Given the description of an element on the screen output the (x, y) to click on. 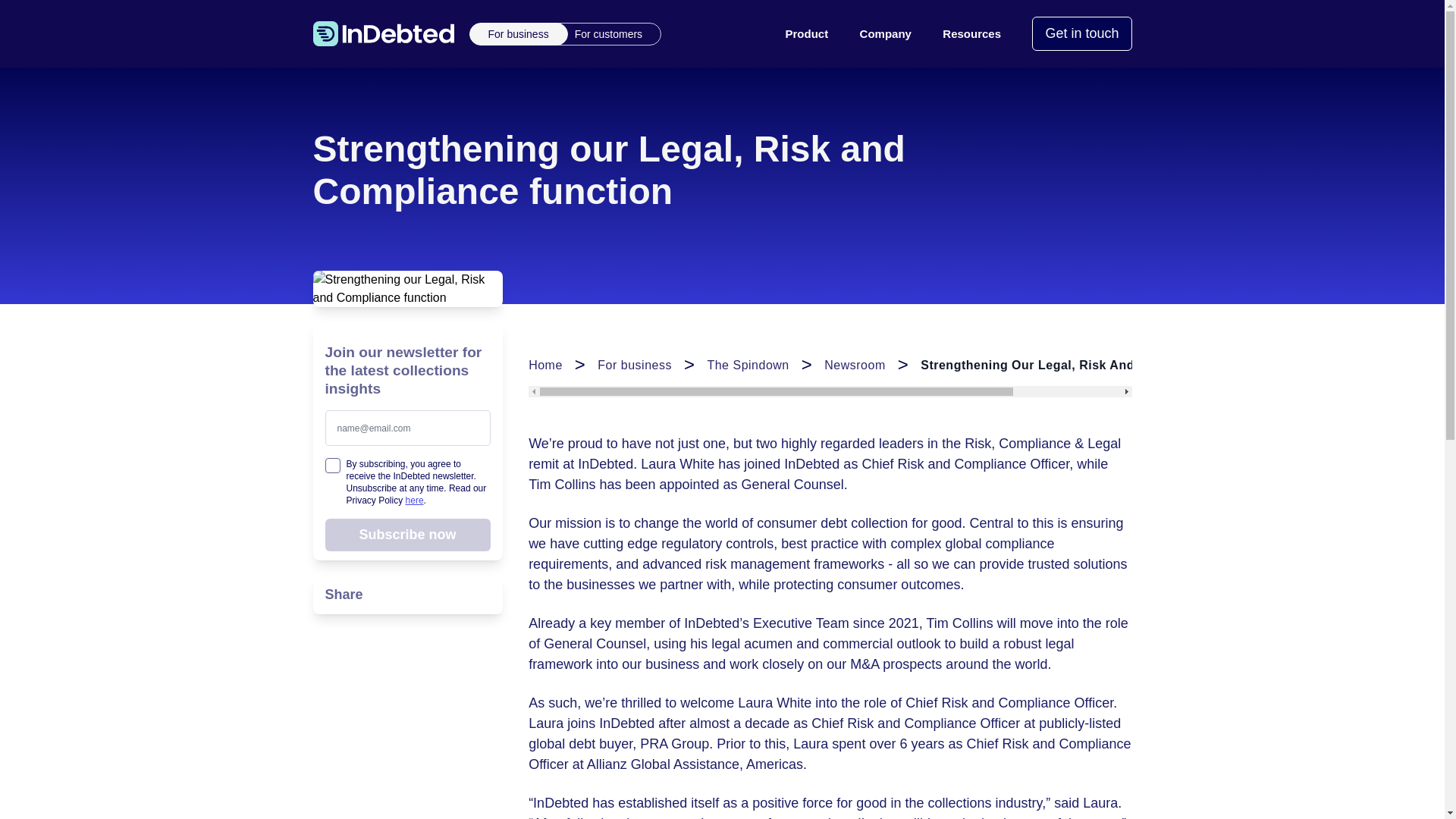
on (331, 465)
For customers (602, 33)
For business (518, 33)
Go to the InDebted home page (382, 33)
